Given the description of an element on the screen output the (x, y) to click on. 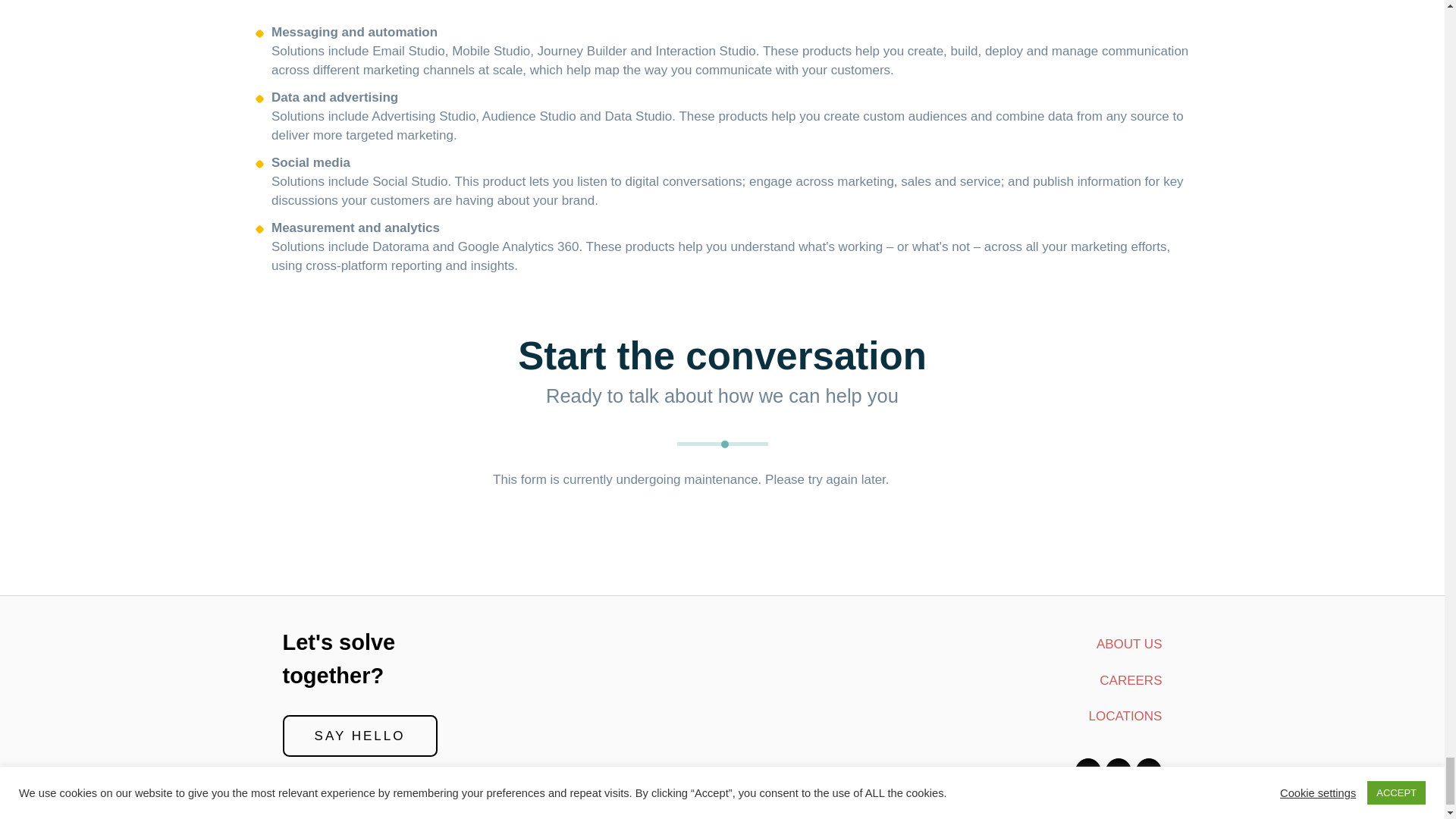
QA on Twitter (1087, 771)
QA on Linkedin (1118, 771)
QA on Facebook (1148, 771)
